Given the description of an element on the screen output the (x, y) to click on. 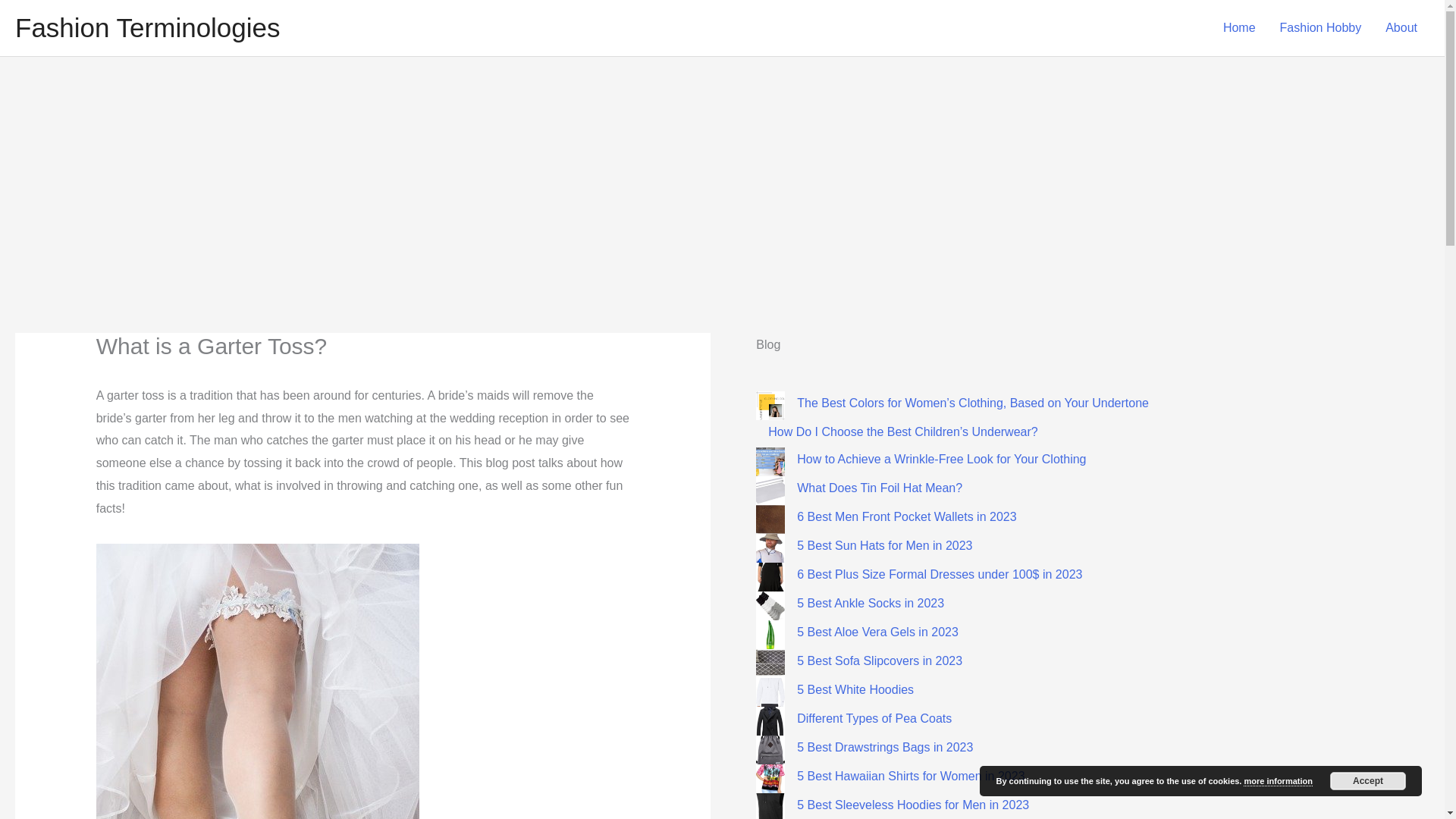
5 Best Sleeveless Hoodies for Men in 2023 (912, 804)
5 Best Drawstrings Bags in 2023 (884, 747)
5 Best Hawaiian Shirts for Women in 2023 (910, 775)
Fashion Hobby (1321, 27)
Fashion Terminologies (147, 27)
5 Best Sun Hats for Men in 2023 (884, 545)
5 Best Sofa Slipcovers in 2023 (879, 660)
About (1401, 27)
Home (1239, 27)
5 Best Ankle Socks in 2023 (869, 603)
What Does Tin Foil Hat Mean? (879, 487)
How to Achieve a Wrinkle-Free Look for Your Clothing (941, 459)
6 Best Men Front Pocket Wallets in 2023 (906, 516)
5 Best Aloe Vera Gels in 2023 (877, 631)
